Given the description of an element on the screen output the (x, y) to click on. 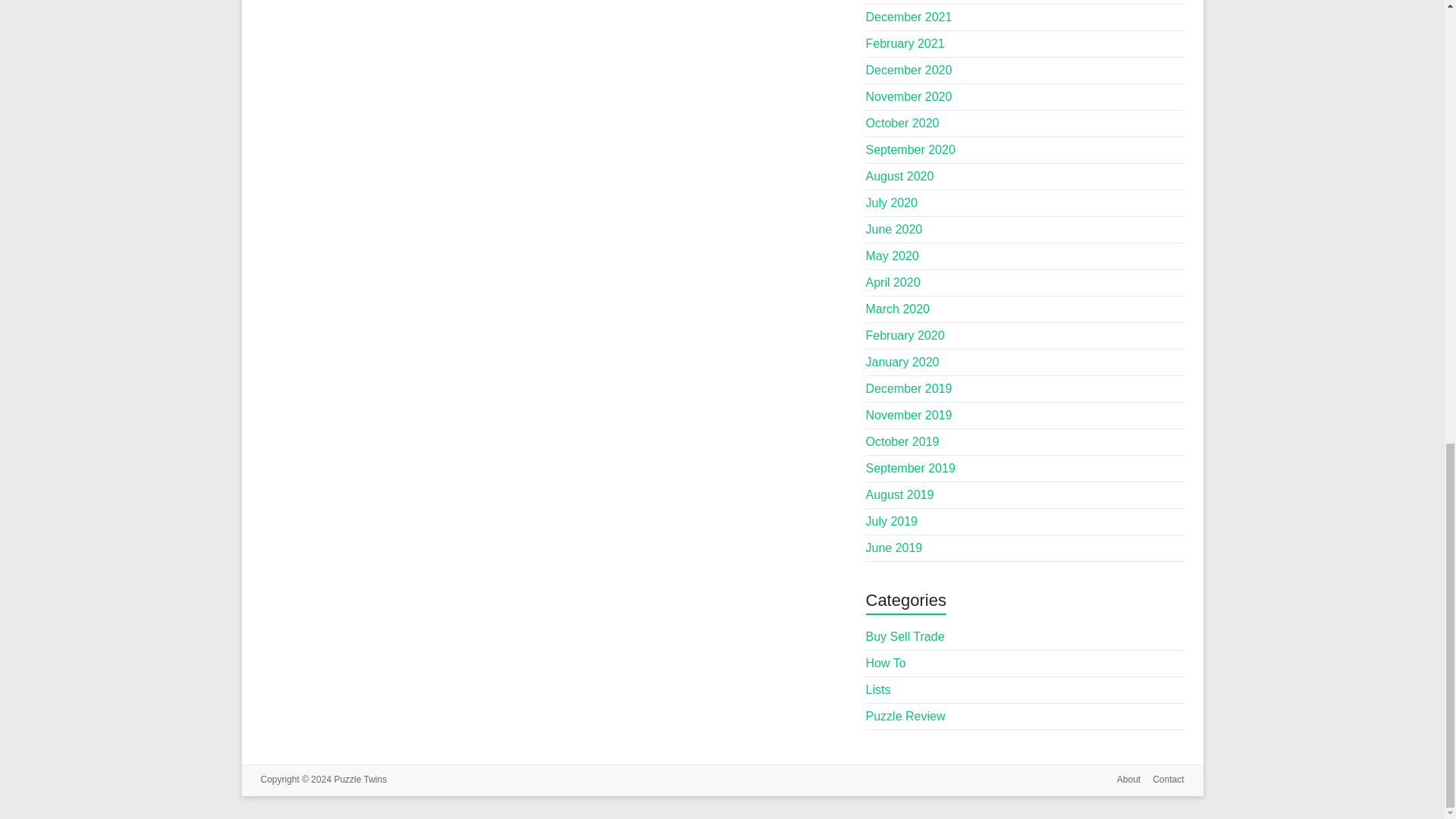
December 2020 (909, 69)
February 2021 (905, 42)
December 2021 (909, 16)
